Given the description of an element on the screen output the (x, y) to click on. 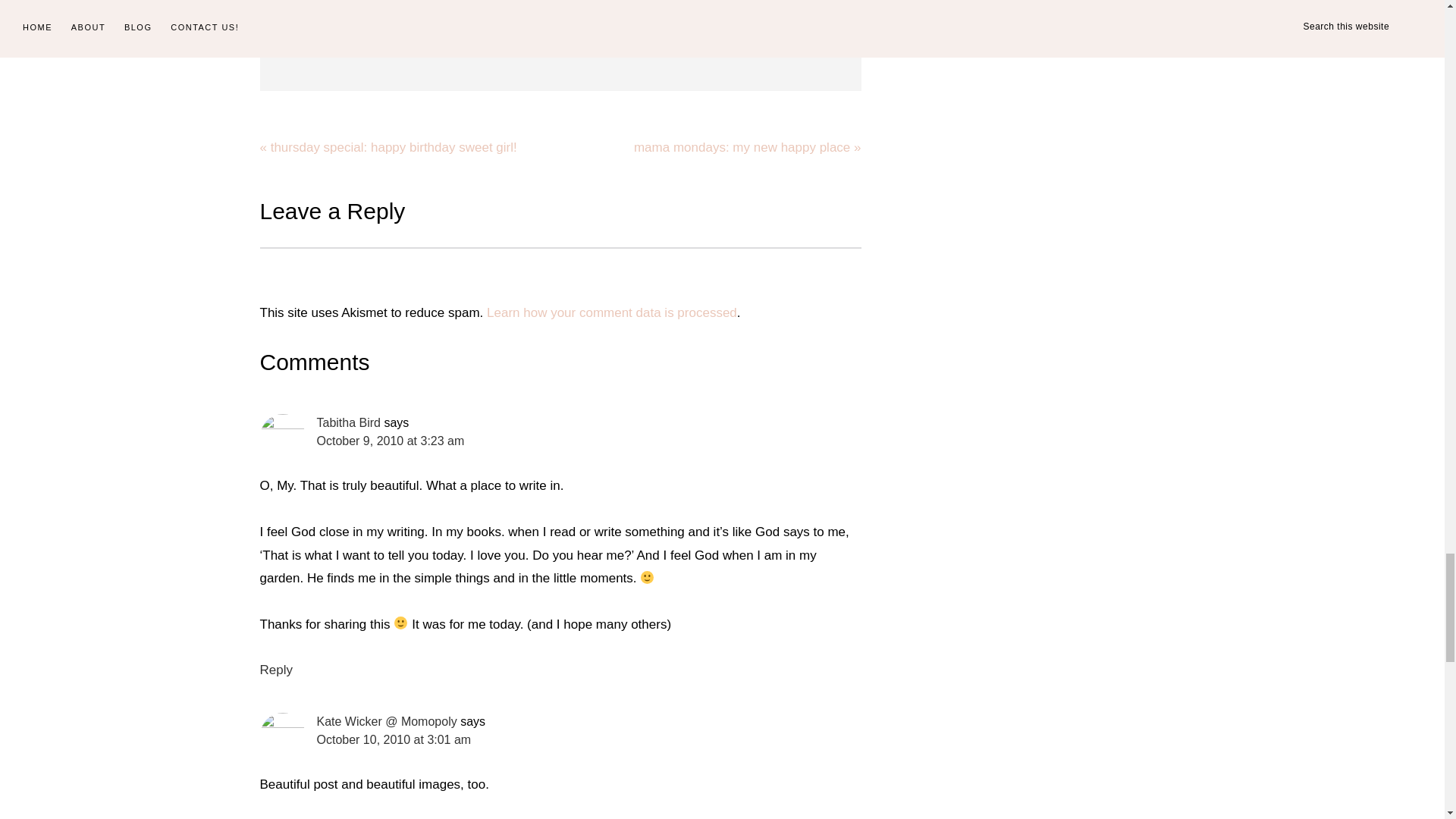
Go (559, 34)
